Given the description of an element on the screen output the (x, y) to click on. 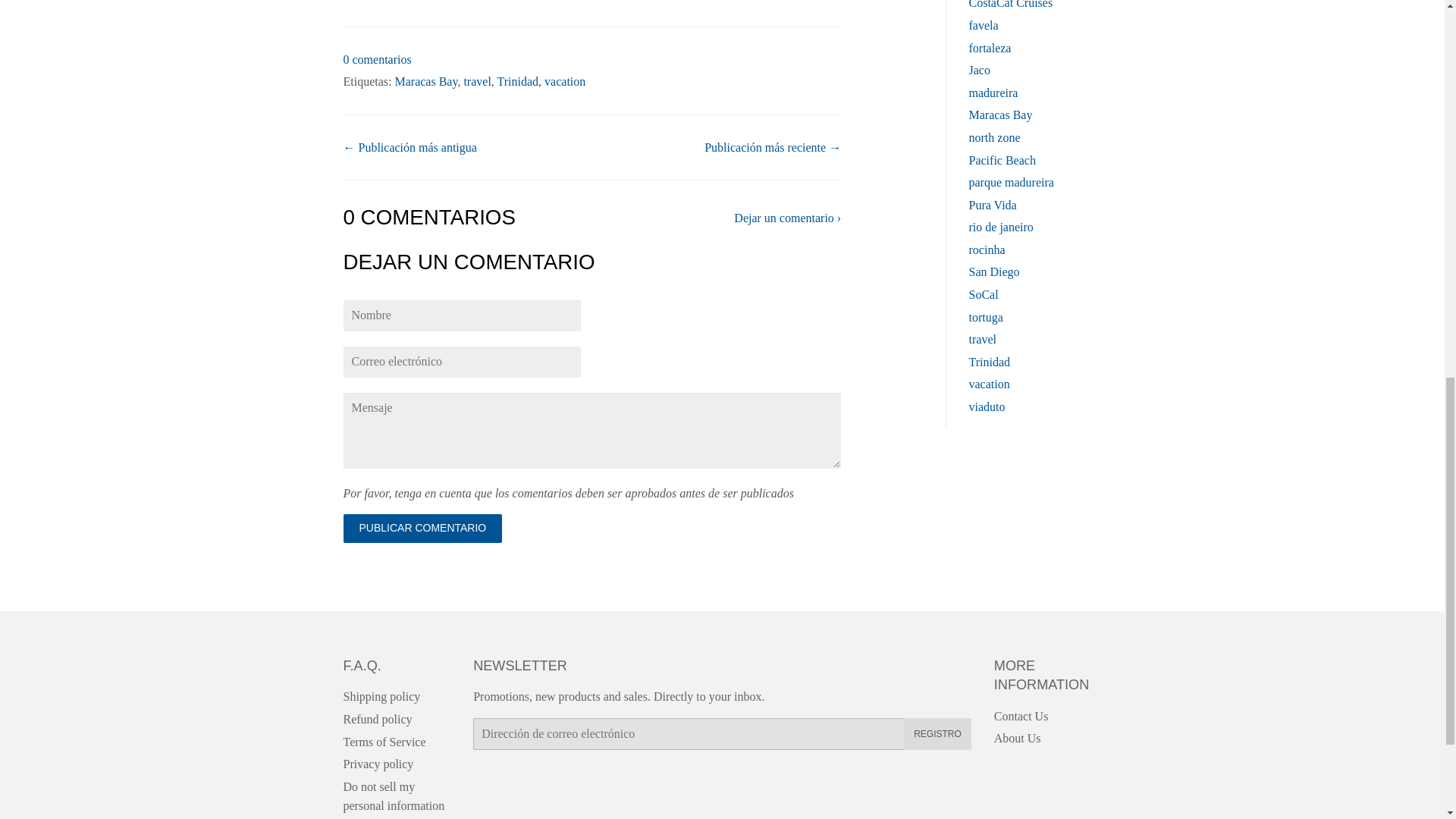
Show articles tagged CostaCat Cruises (1010, 4)
Show articles tagged Maracas Bay (1000, 114)
Show articles tagged fortaleza (990, 47)
Show articles tagged parque madureira (1011, 182)
Show articles tagged north zone (994, 137)
Show articles tagged madureira (993, 92)
Show articles tagged Jaco (979, 69)
Show articles tagged Pacific Beach (1002, 159)
Publicar comentario (422, 528)
Show articles tagged favela (983, 24)
